Given the description of an element on the screen output the (x, y) to click on. 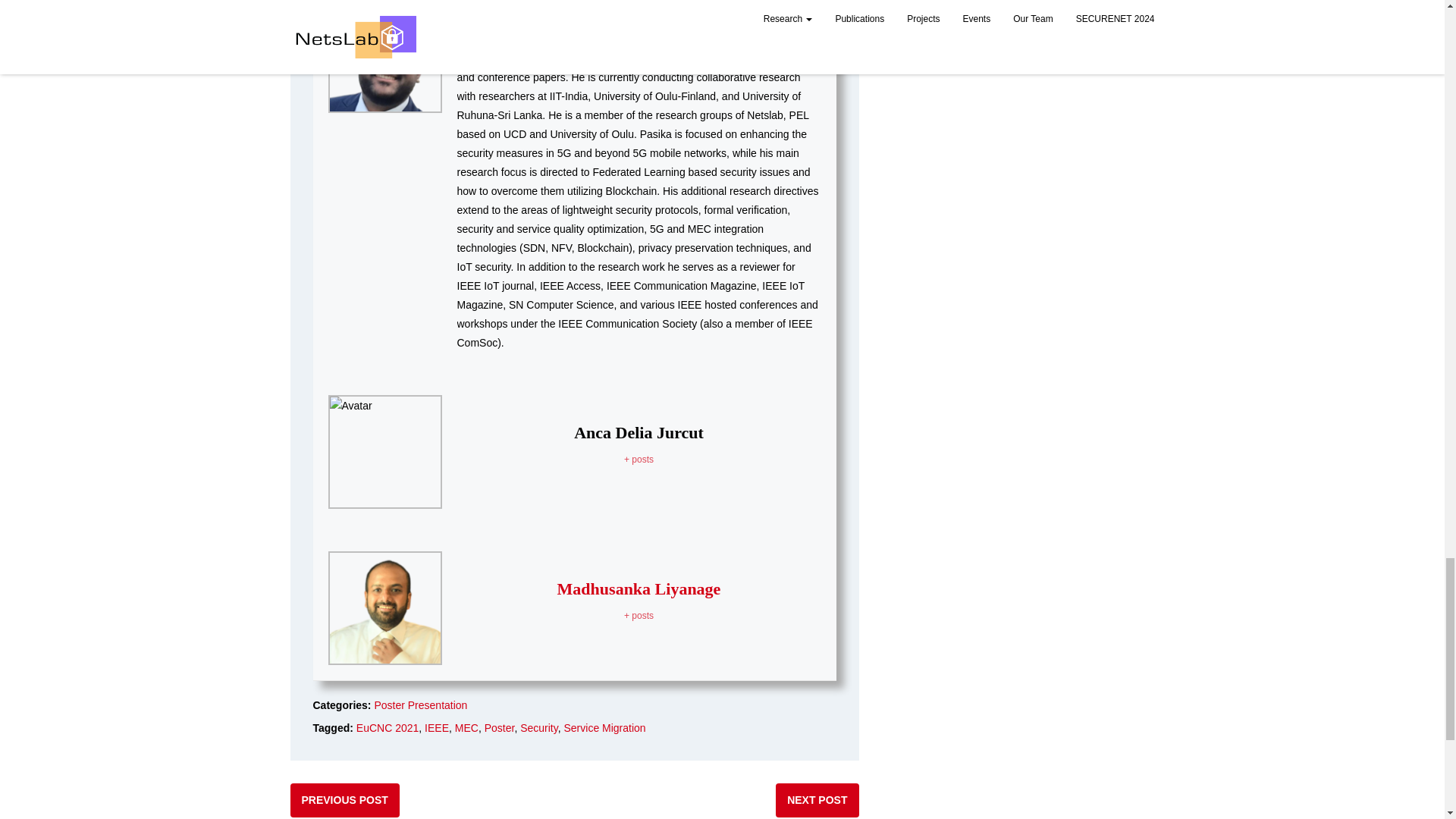
Madhusanka Liyanage (638, 588)
